Given the description of an element on the screen output the (x, y) to click on. 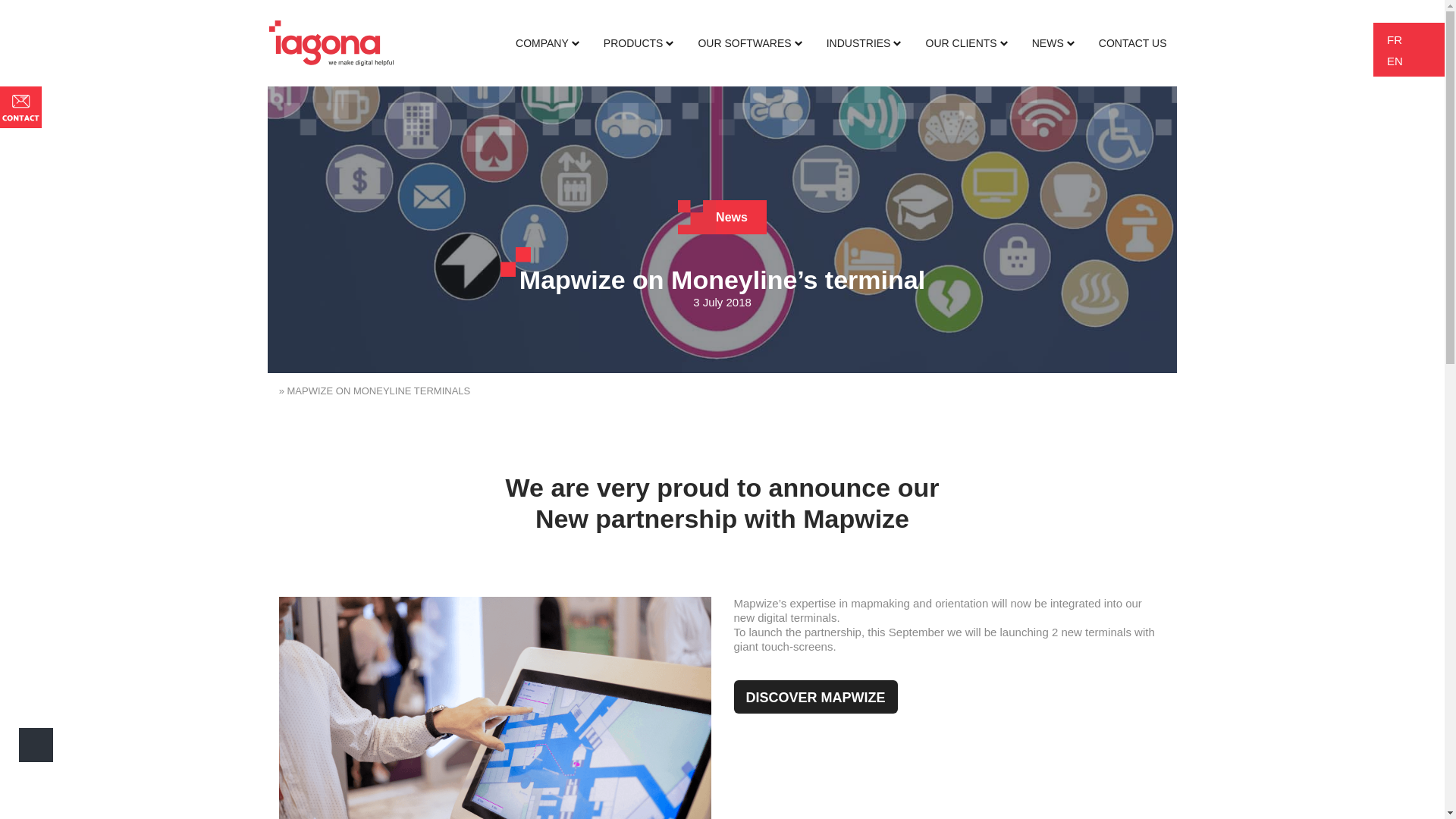
mapwize-sur-bornes-moneyline (495, 708)
Iagona (330, 42)
COMPANY (547, 43)
PRODUCTS (638, 43)
